Given the description of an element on the screen output the (x, y) to click on. 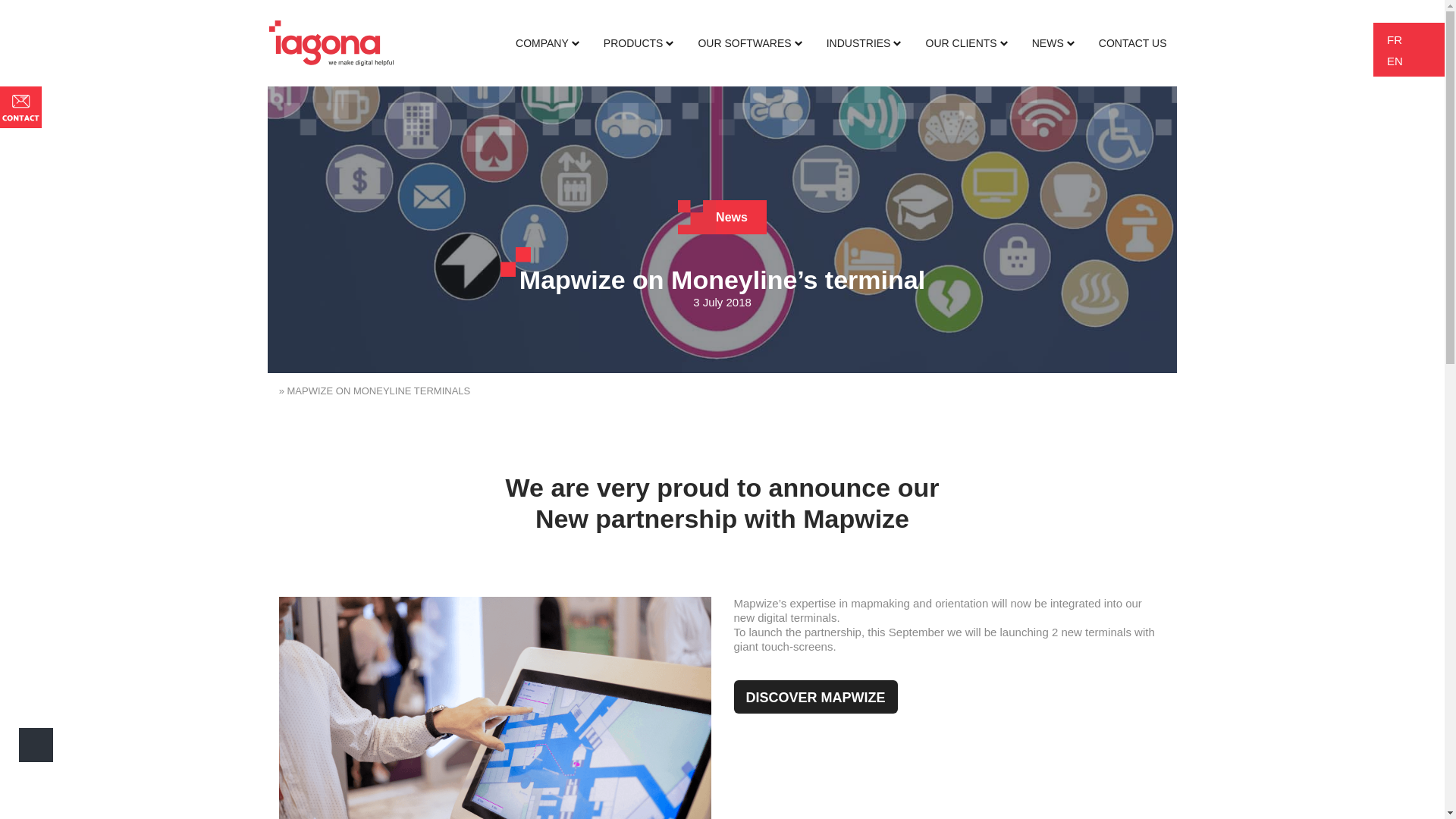
mapwize-sur-bornes-moneyline (495, 708)
Iagona (330, 42)
COMPANY (547, 43)
PRODUCTS (638, 43)
